Given the description of an element on the screen output the (x, y) to click on. 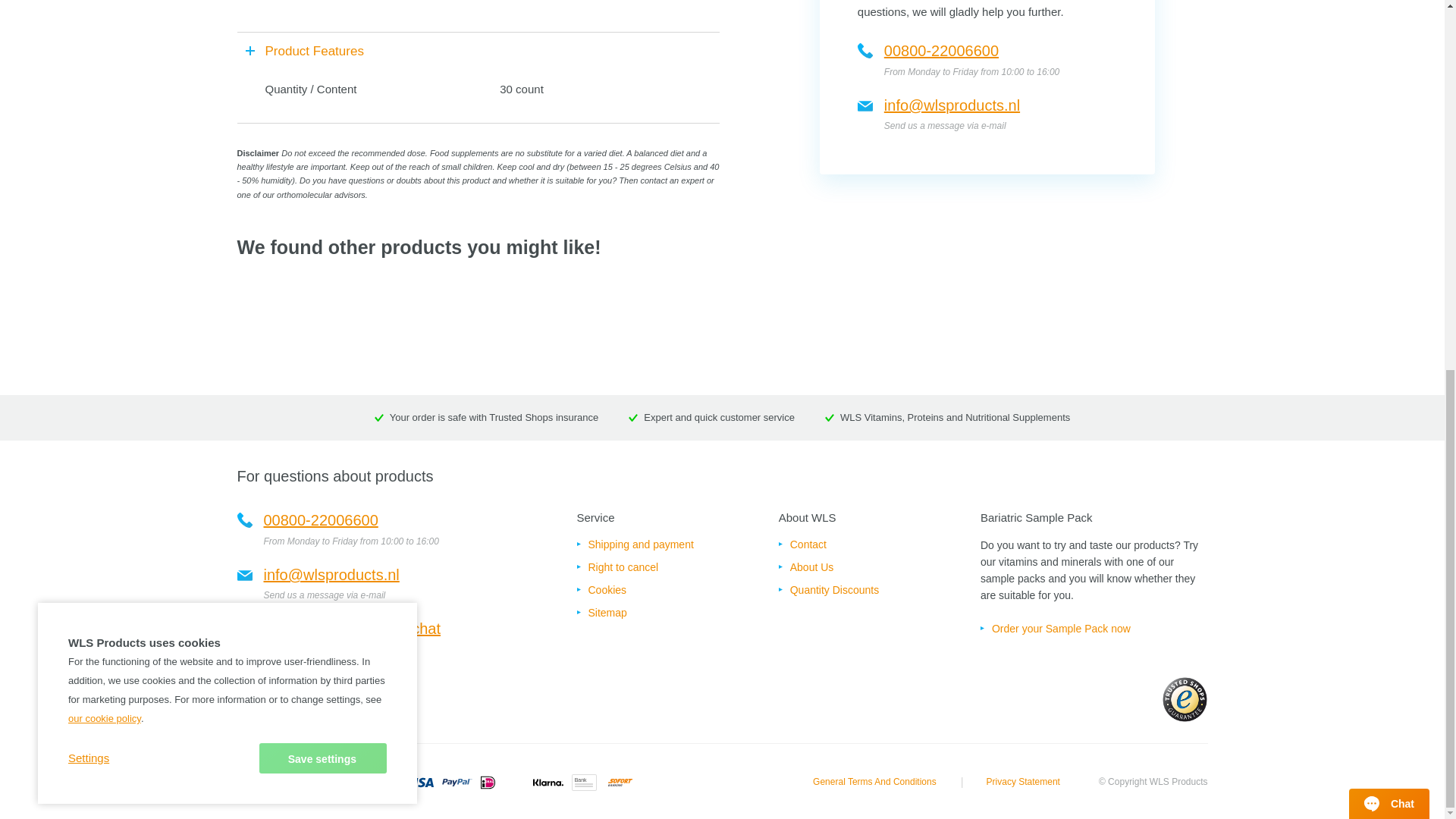
Settings (88, 85)
Save settings (323, 86)
our cookie policy (104, 46)
